Given the description of an element on the screen output the (x, y) to click on. 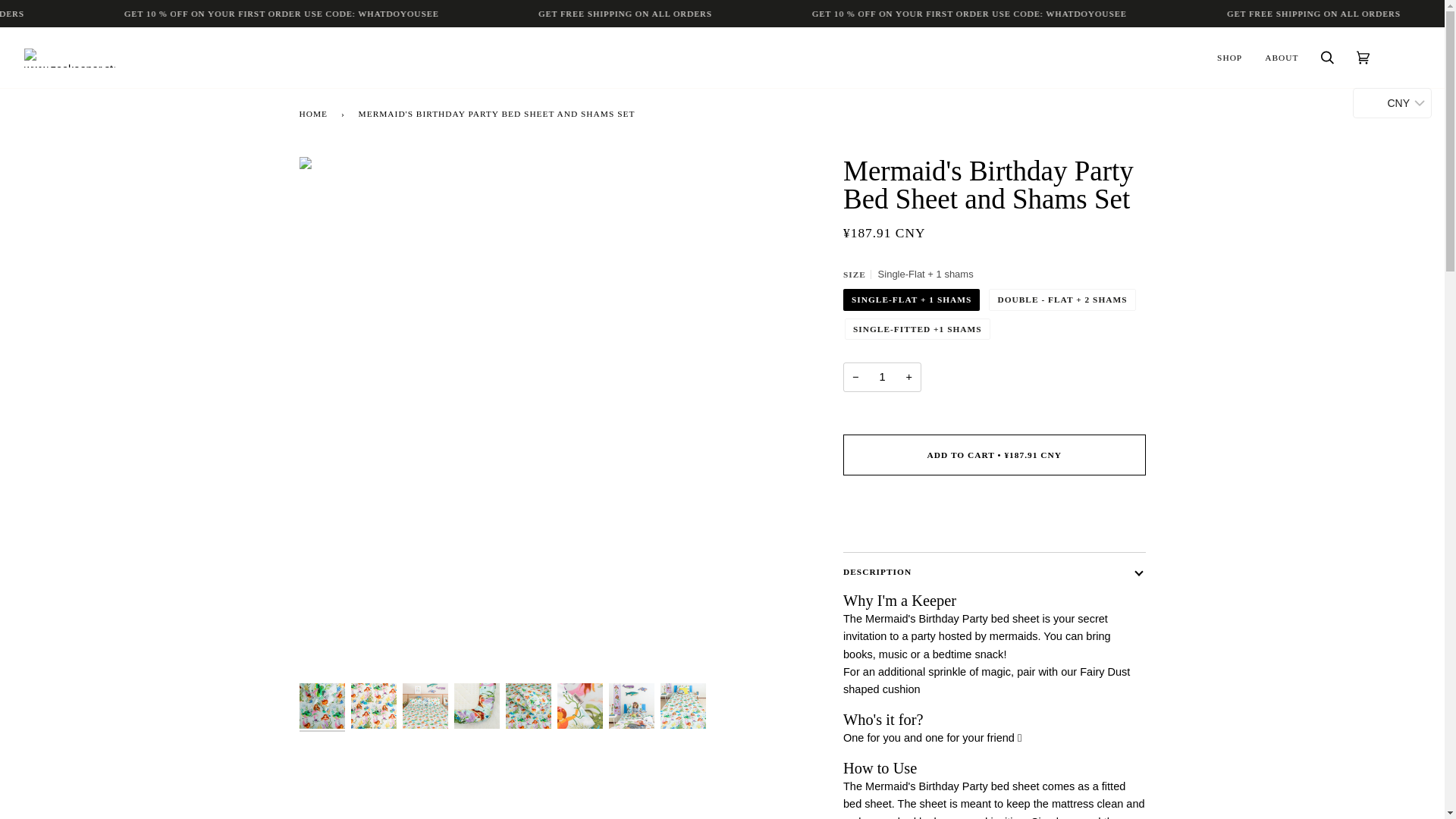
Back to the frontpage (315, 113)
ABOUT (1280, 57)
1 (882, 377)
